Given the description of an element on the screen output the (x, y) to click on. 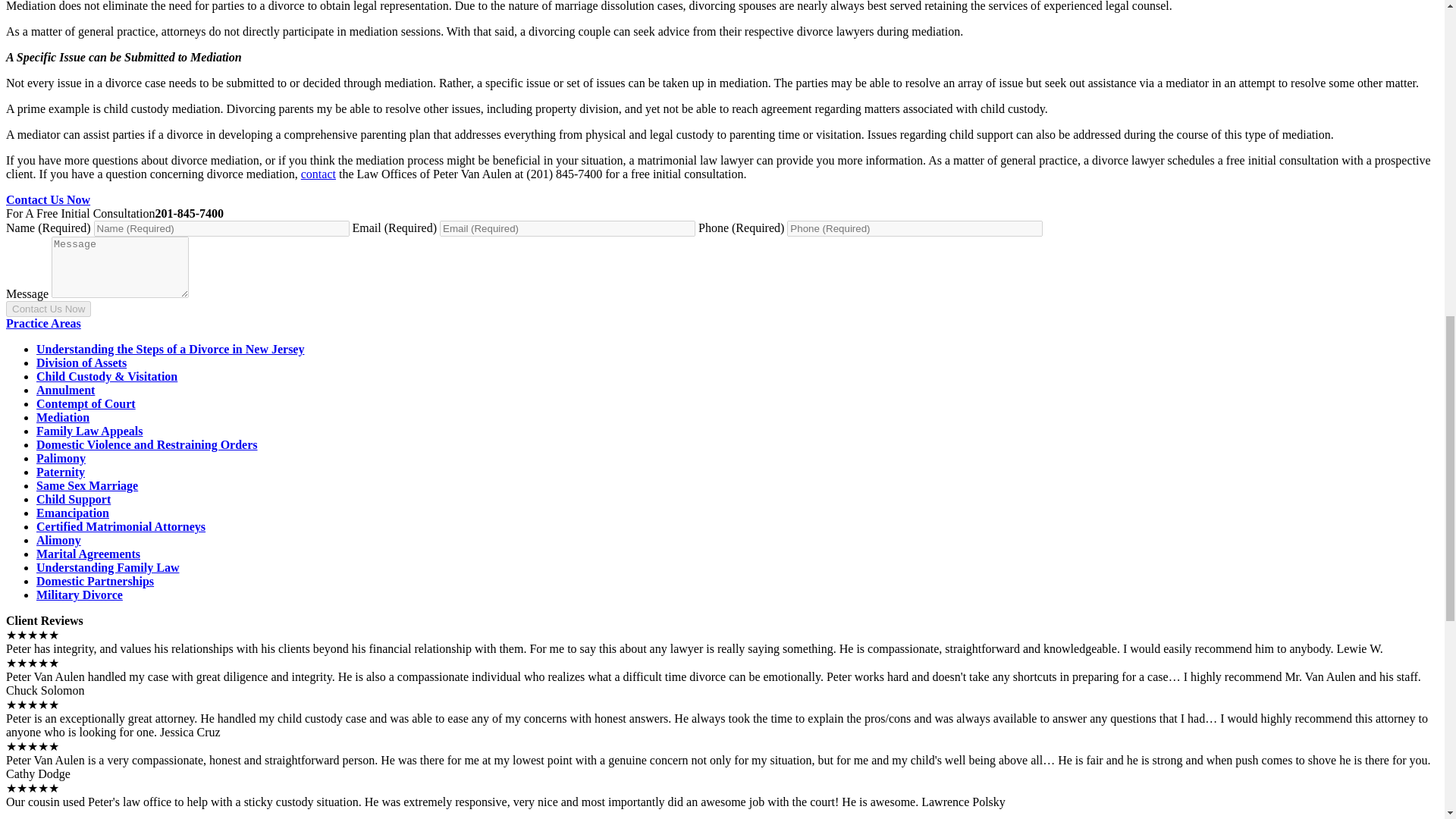
Same Sex Marriage (87, 485)
Marital Agreements (87, 553)
Contact Us Now (47, 308)
Domestic Violence and Restraining Orders (146, 444)
Emancipation (72, 512)
Alimony (58, 540)
Understanding the Steps of a Divorce in New Jersey (170, 349)
Military Divorce (79, 594)
Practice Areas (43, 323)
Understanding Family Law (107, 567)
Contact Us Now (47, 199)
Domestic Partnerships (95, 581)
Mediation (62, 417)
contact (318, 173)
Division of Assets (81, 362)
